Given the description of an element on the screen output the (x, y) to click on. 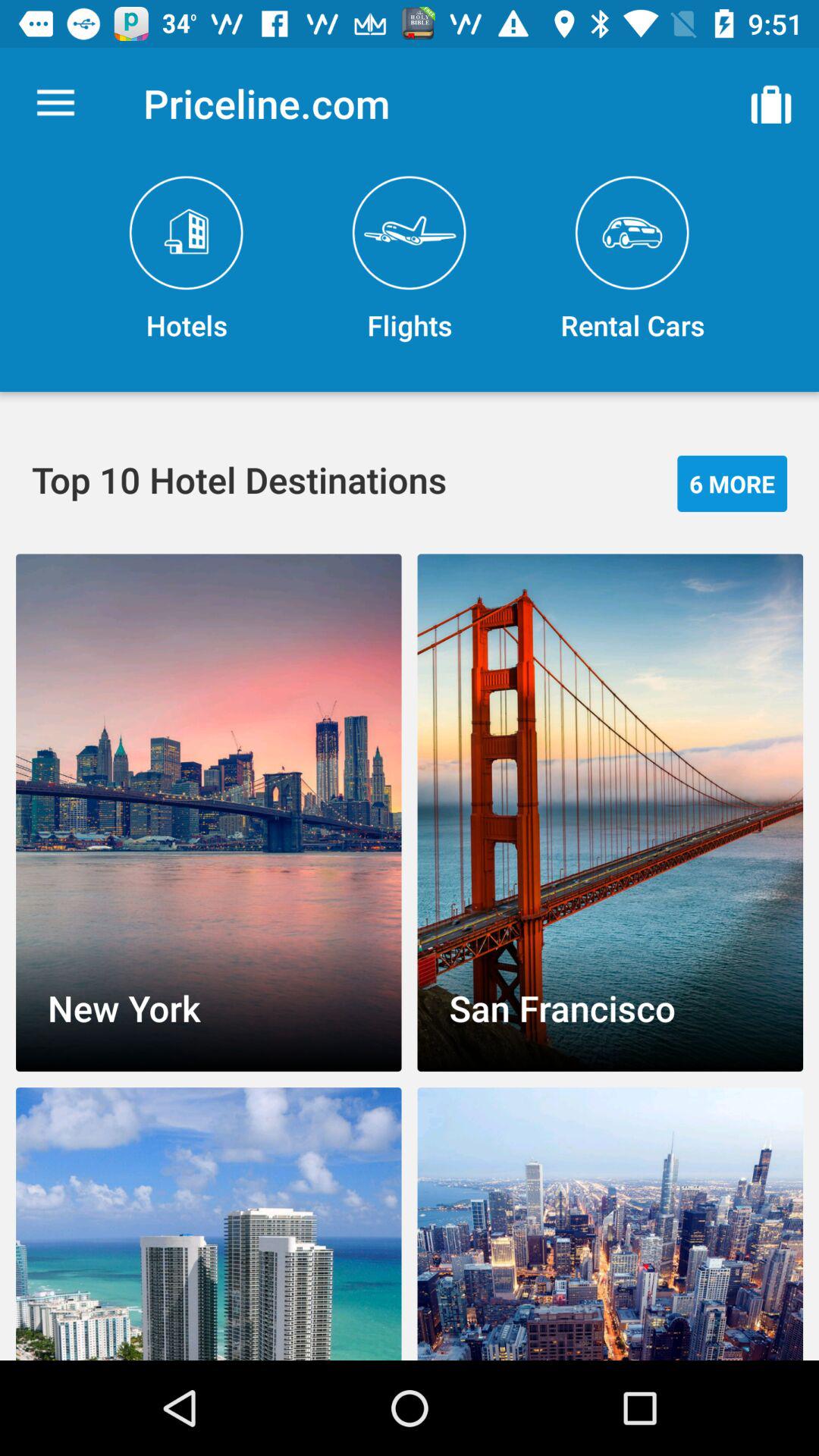
tap item next to the flights item (771, 103)
